Given the description of an element on the screen output the (x, y) to click on. 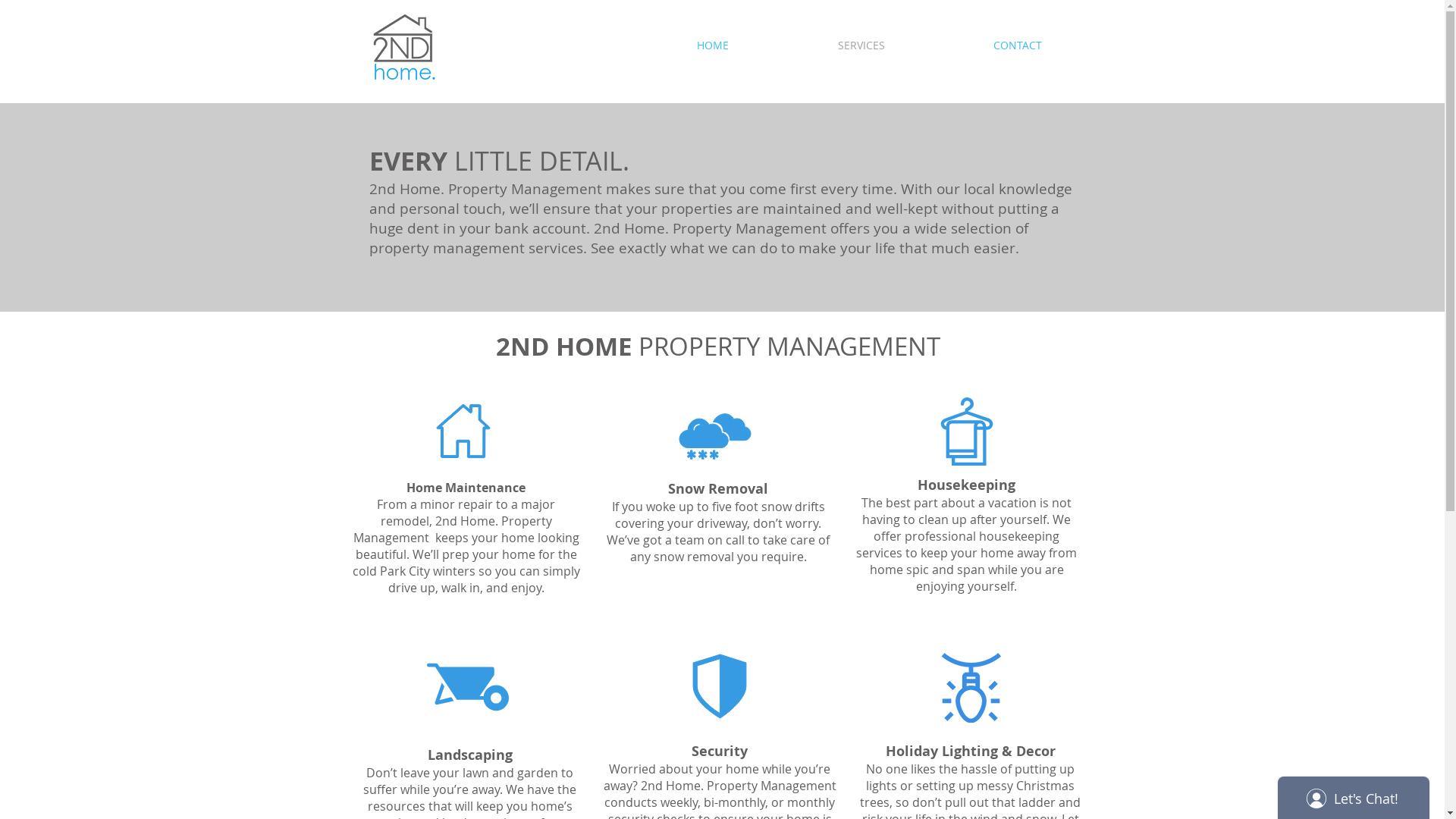
CONTACT Element type: text (1016, 45)
HOME Element type: text (711, 45)
SERVICES Element type: text (860, 45)
